Given the description of an element on the screen output the (x, y) to click on. 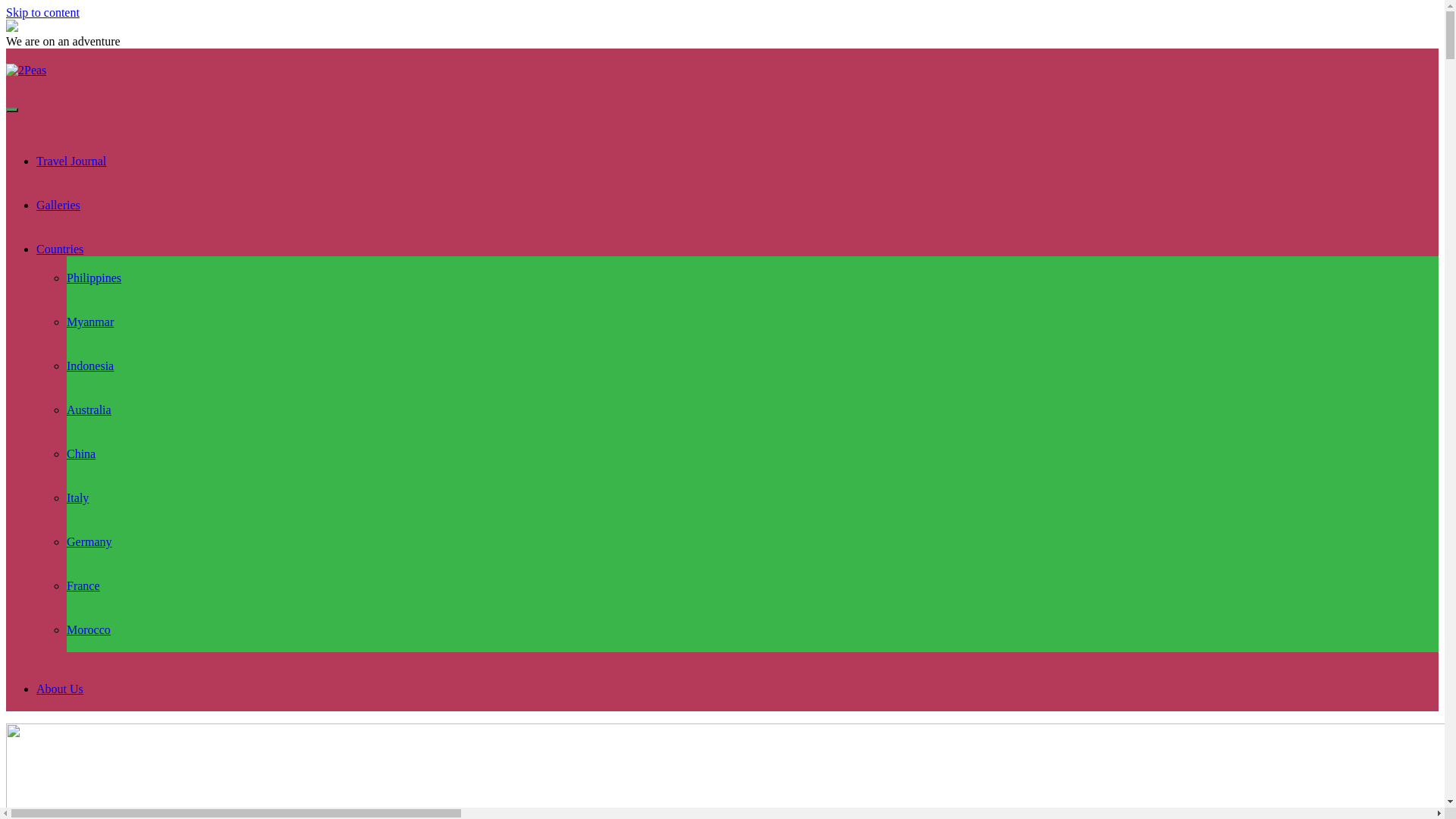
Australia Element type: text (88, 409)
China Element type: text (80, 453)
Italy Element type: text (77, 497)
Galleries Element type: text (58, 204)
About Us Element type: text (59, 688)
Morocco Element type: text (88, 629)
Countries Element type: text (59, 248)
Travel Journal Element type: text (71, 160)
Indonesia Element type: text (89, 365)
France Element type: text (83, 585)
Skip to content Element type: text (42, 12)
Myanmar Element type: text (89, 321)
Germany Element type: text (89, 541)
Philippines Element type: text (93, 277)
2Peas Element type: hover (26, 69)
